Given the description of an element on the screen output the (x, y) to click on. 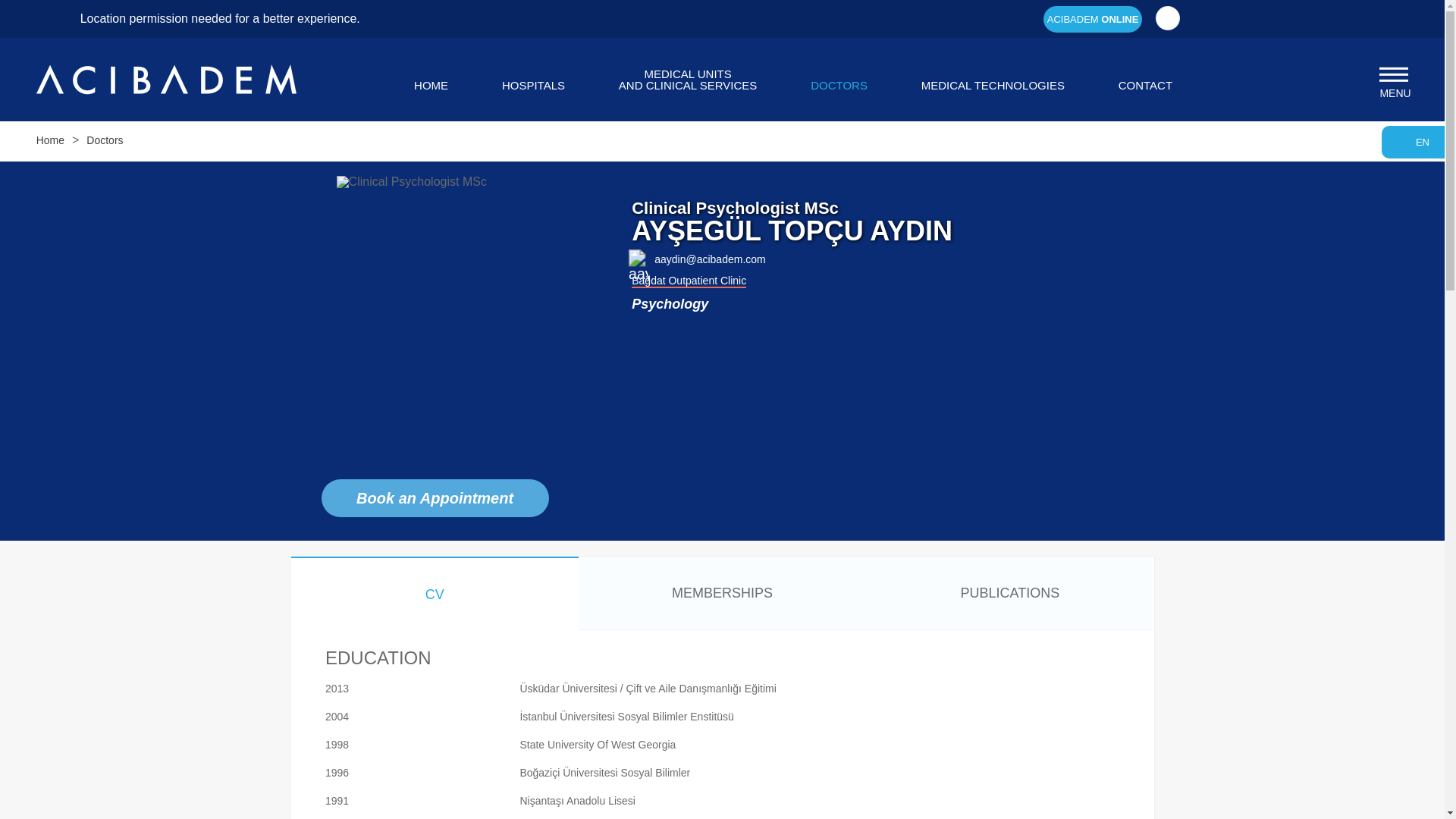
MEDICAL UNITS AND CLINICAL SERVICES (687, 78)
MEDICAL TECHNOLOGIES (992, 84)
CONTACT (1145, 84)
HOSPITALS (533, 84)
ACIBADEM ONLINE (687, 78)
Home (1092, 18)
DOCTORS (50, 140)
EN (838, 84)
Book an Appointment (1420, 142)
CONTACT (434, 497)
MEDICAL TECHNOLOGIES (1145, 84)
ACIBADEM ONLINE (992, 84)
HOSPITALS (1092, 18)
Doctors (533, 84)
